Given the description of an element on the screen output the (x, y) to click on. 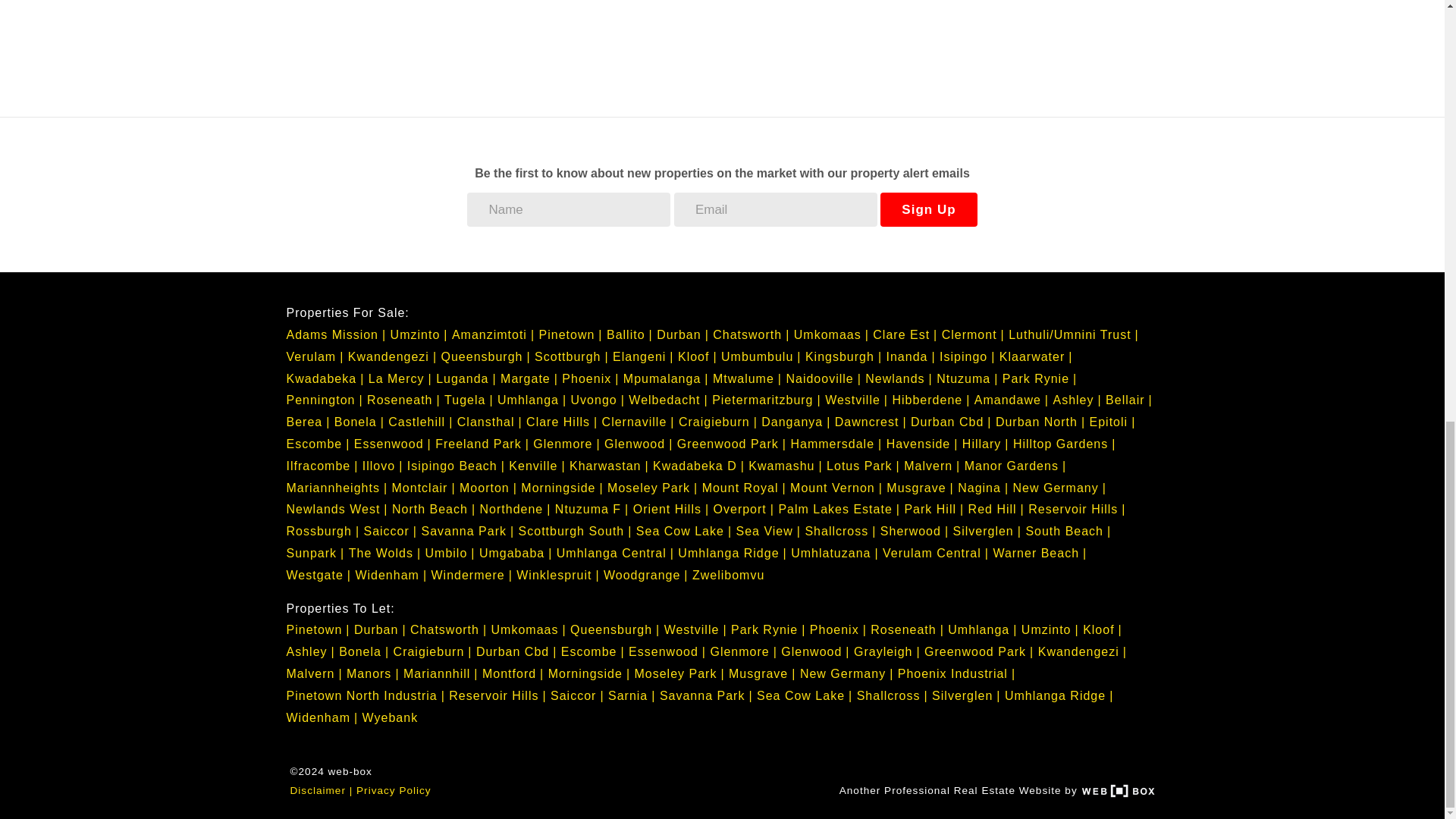
Properties for sale in Ballito (629, 334)
Properties for sale in Umkomaas (831, 334)
Properties for sale in Pinetown (570, 334)
Properties for sale in Clermont (973, 334)
Properties for sale in Adams Mission (336, 334)
google map (574, 39)
Properties for sale in Umzinto (419, 334)
Properties for sale in Elangeni (642, 356)
Properties for sale in Kwandengezi (391, 356)
Properties for sale in Durban (682, 334)
Properties for sale in Queensburgh (486, 356)
Properties for sale in Verulam (314, 356)
Properties for sale in Amanzimtoti (492, 334)
Properties for sale in Chatsworth (751, 334)
Properties for sale in Clare Est (904, 334)
